Given the description of an element on the screen output the (x, y) to click on. 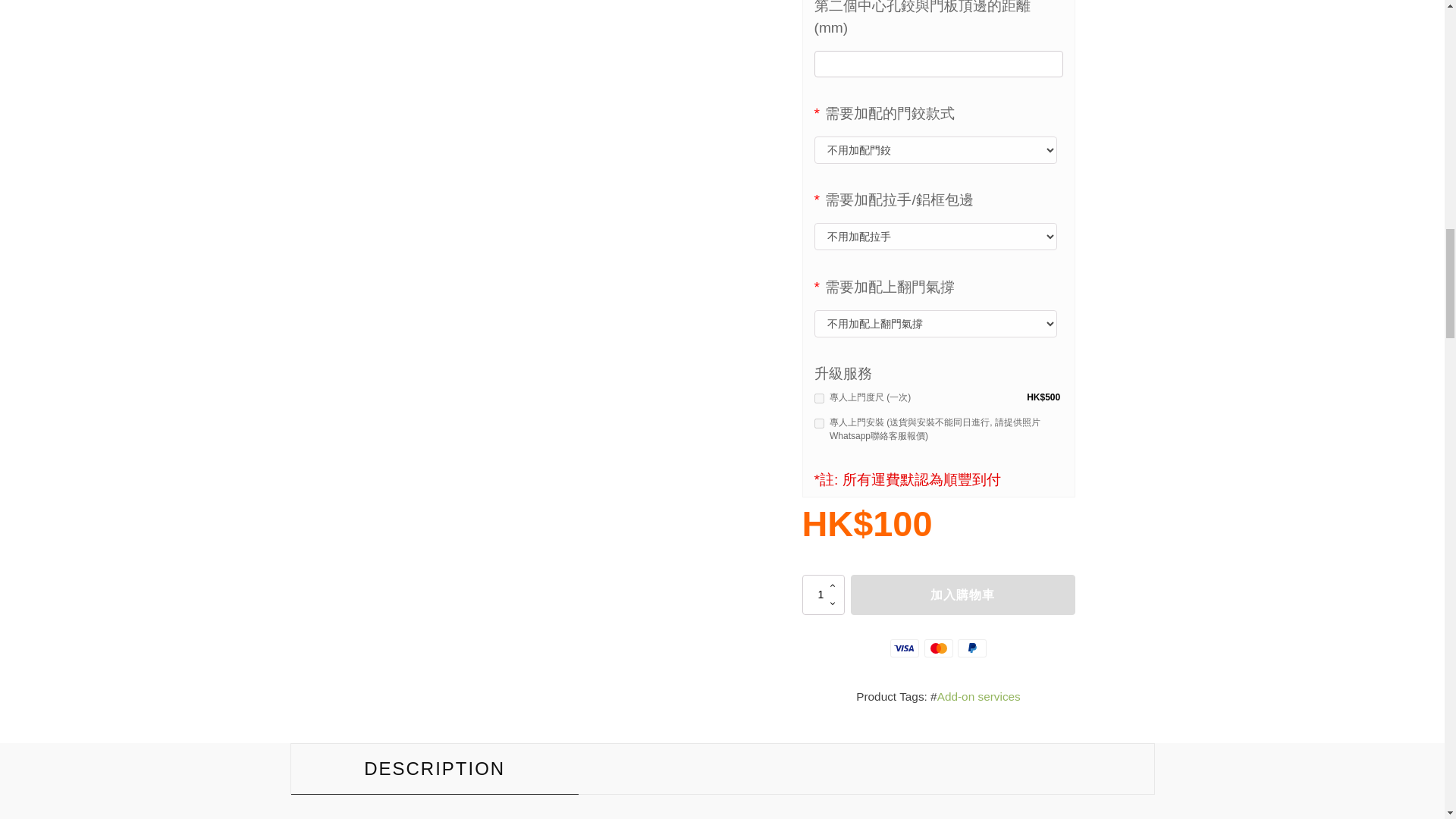
Visa (903, 648)
PayPal (972, 648)
1 (823, 594)
Mastercard (937, 648)
